Given the description of an element on the screen output the (x, y) to click on. 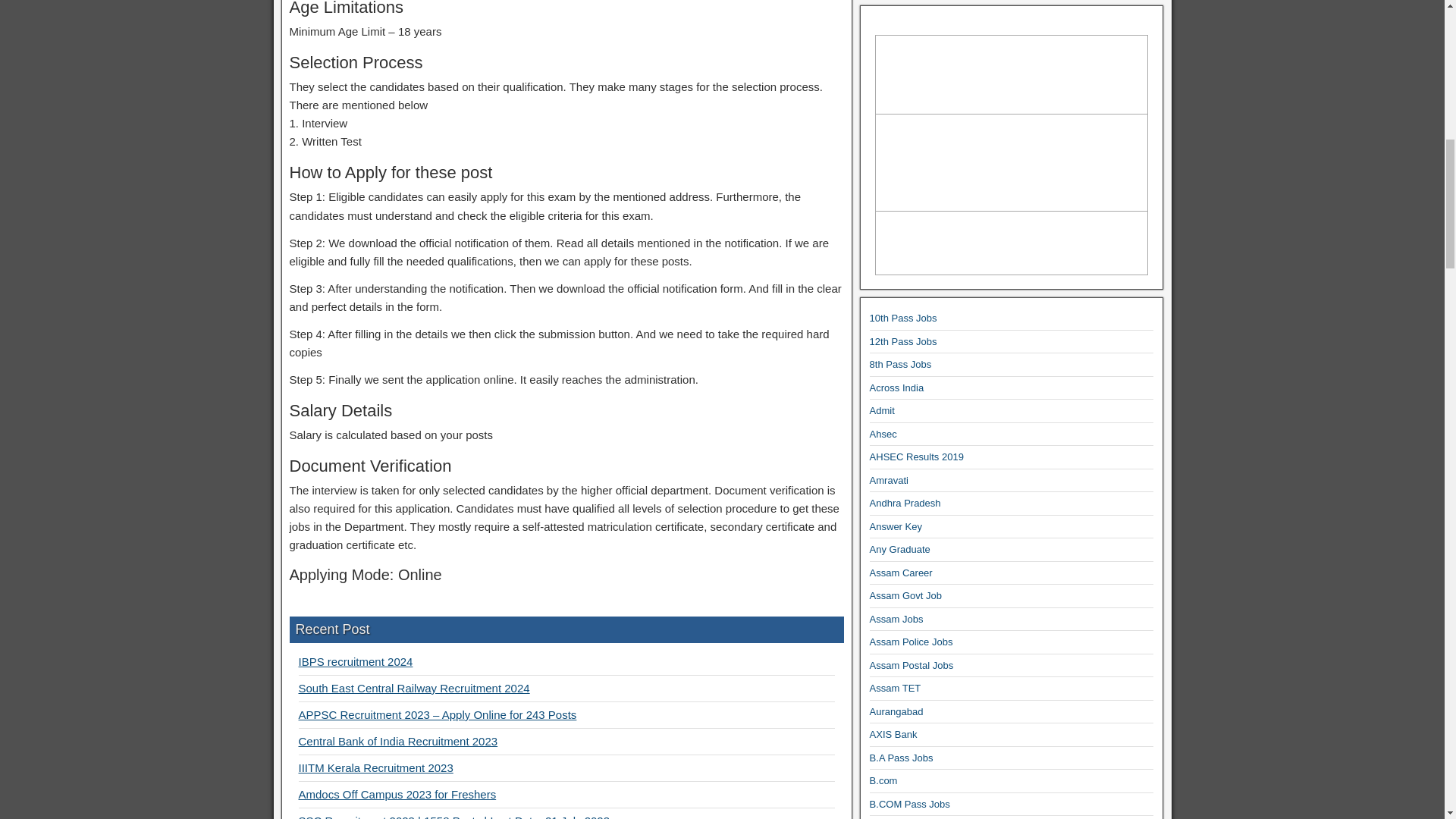
IIITM Kerala Recruitment 2023 (375, 767)
IBPS recruitment 2024 (355, 661)
South East Central Railway Recruitment 2024 (413, 687)
Amdocs Off Campus 2023 for Freshers (397, 793)
Central Bank of India Recruitment 2023 (397, 740)
